Given the description of an element on the screen output the (x, y) to click on. 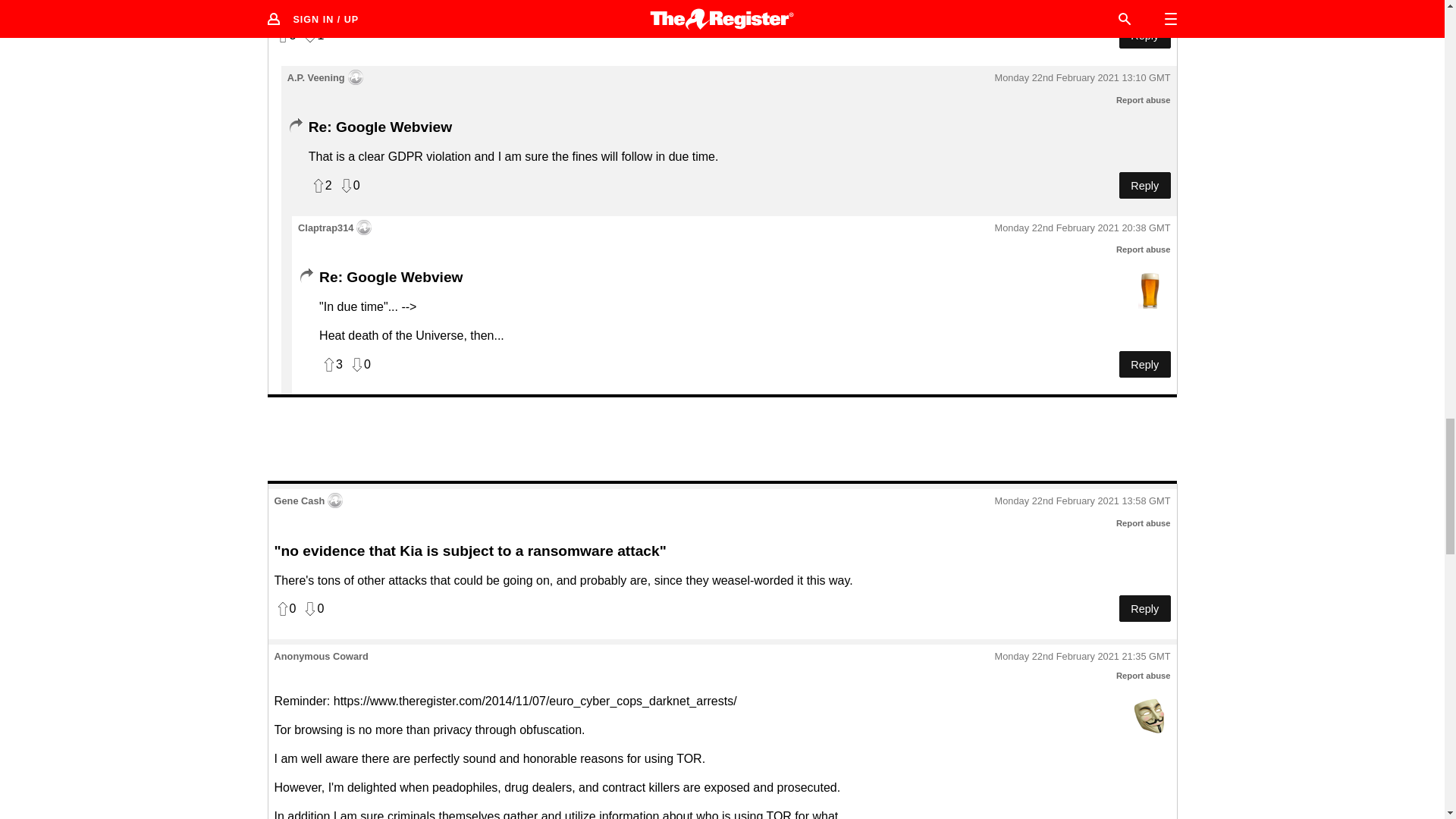
Report abuse (1143, 99)
Report abuse (1143, 522)
Report abuse (1143, 248)
Report abuse (1143, 675)
